Given the description of an element on the screen output the (x, y) to click on. 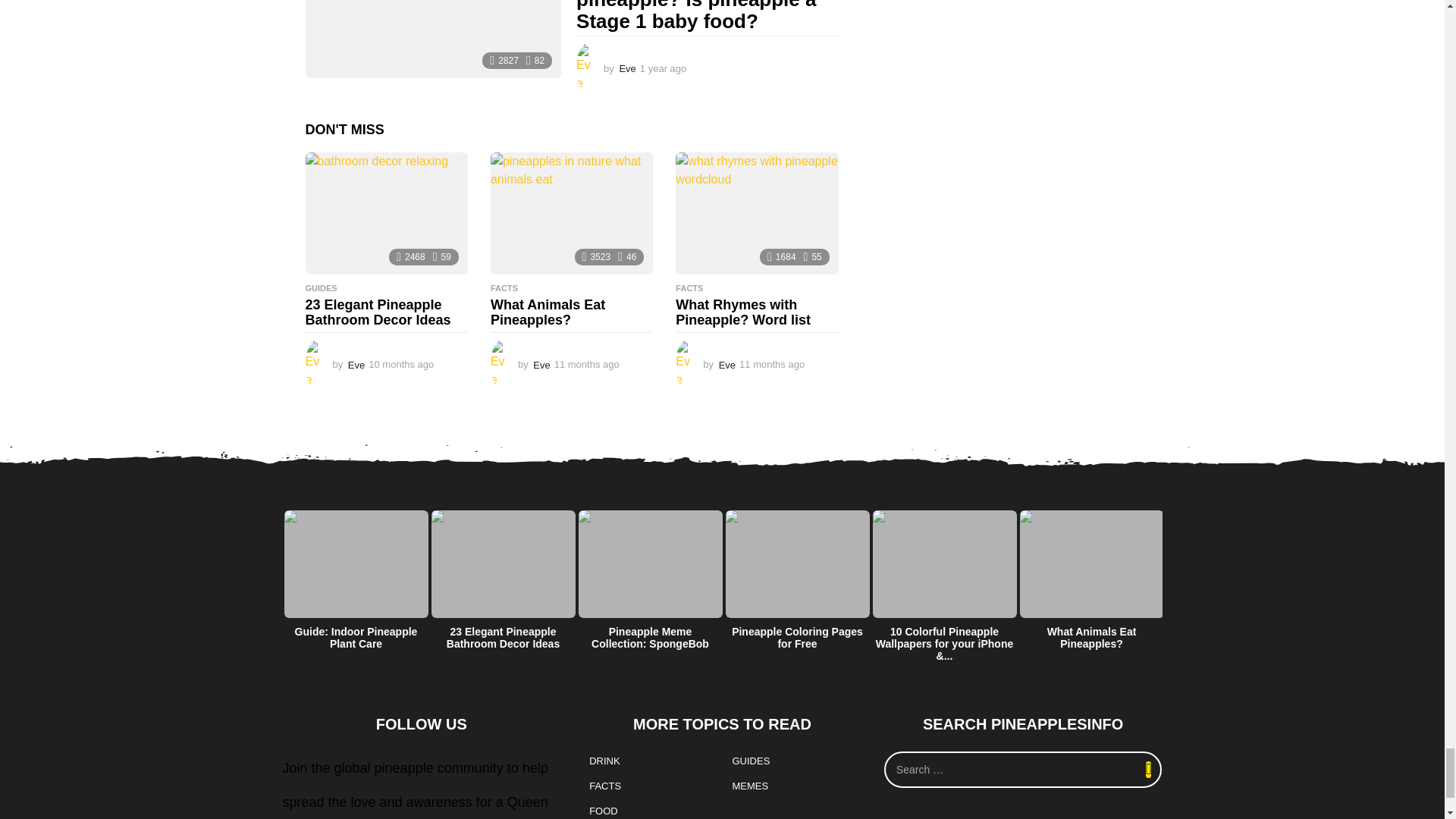
What Rhymes with Pineapple? Word list (756, 213)
23 Elegant Pineapple Bathroom Decor Ideas (385, 213)
What Animals Eat Pineapples? (571, 213)
